Given the description of an element on the screen output the (x, y) to click on. 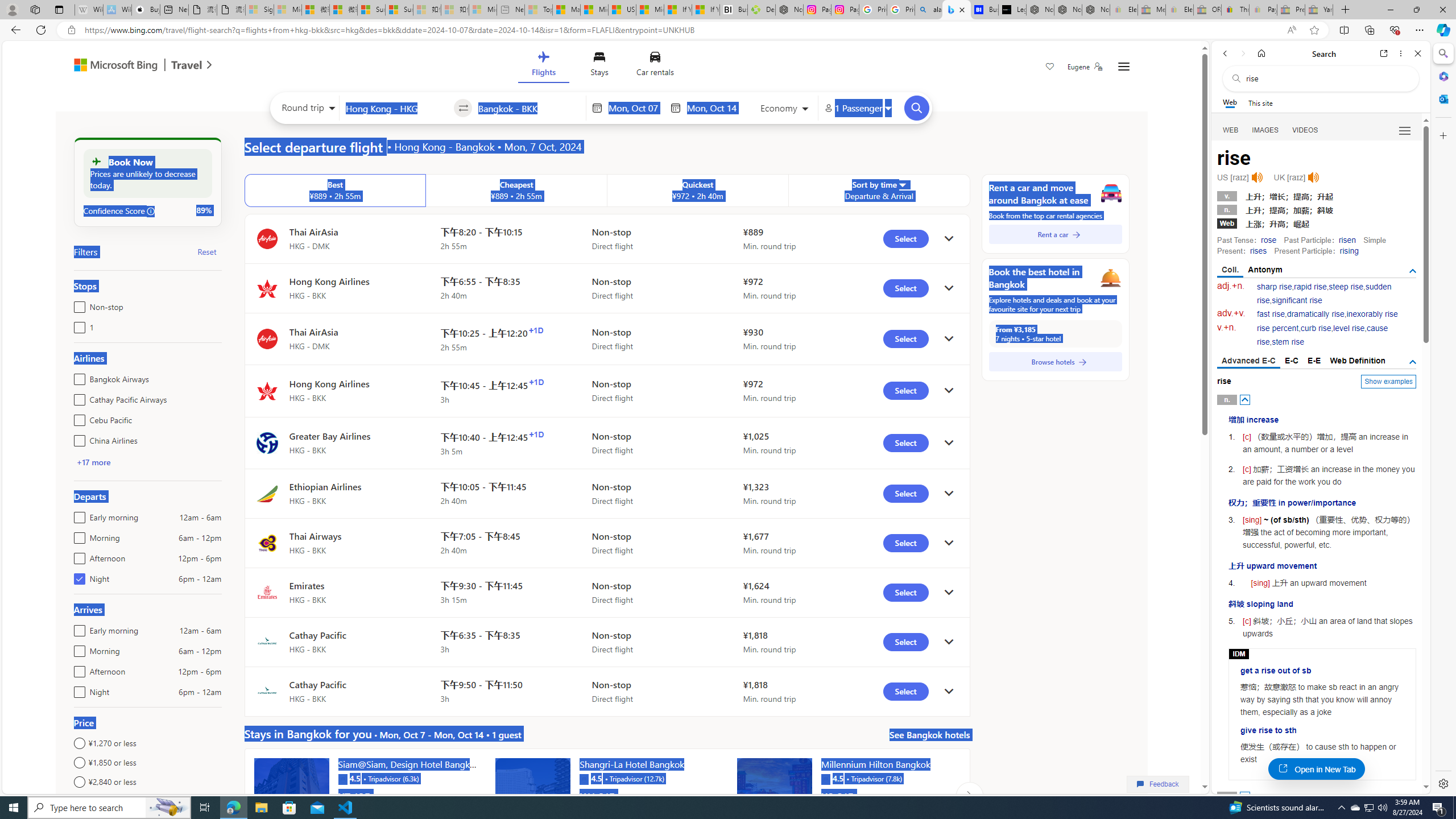
Any price (146, 801)
Night6pm - 12am (76, 689)
WEB (1231, 130)
Select trip type (305, 110)
